Given the description of an element on the screen output the (x, y) to click on. 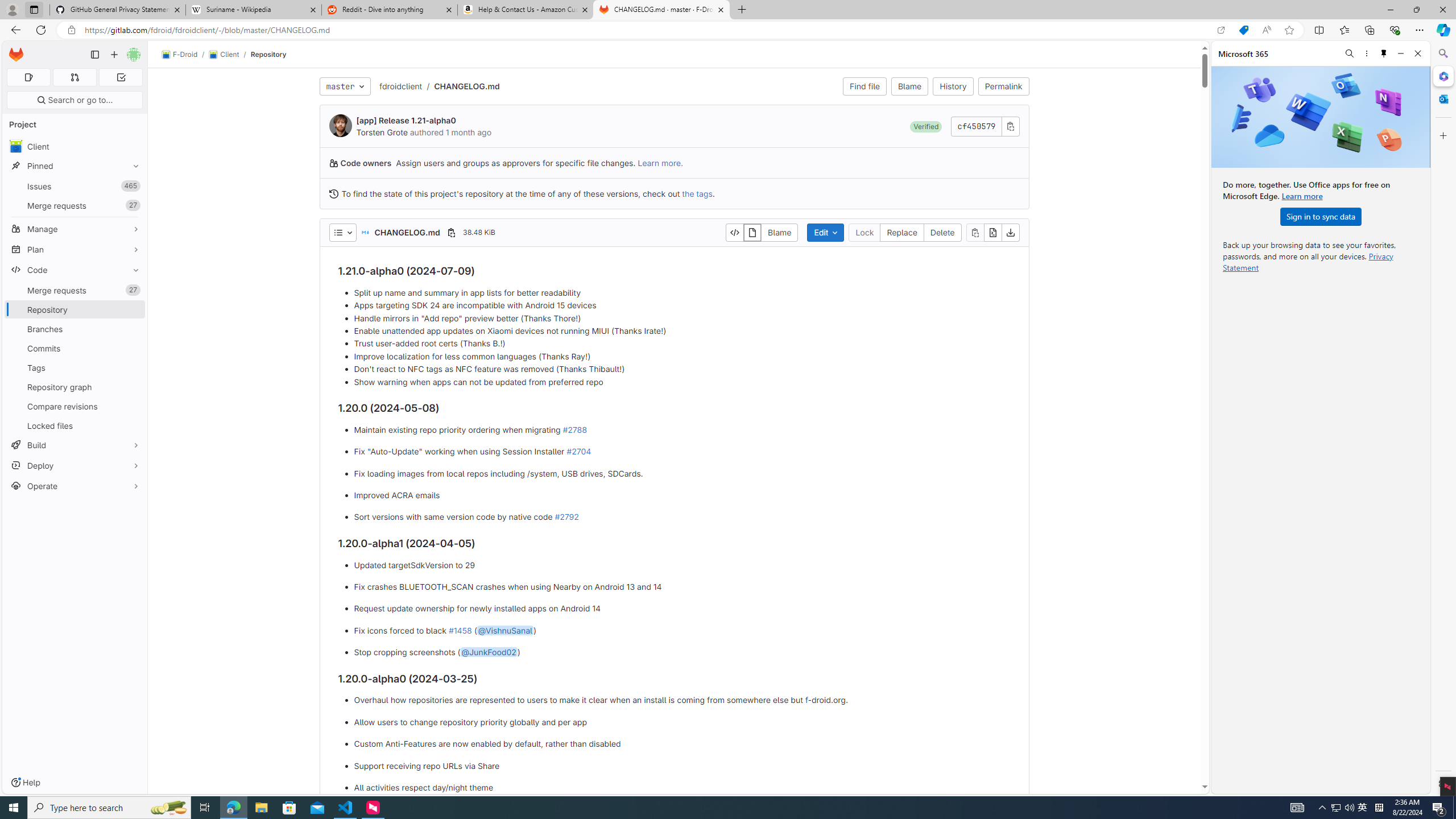
CHANGELOG.md (466, 85)
Replace (901, 232)
Primary navigation sidebar (94, 54)
Updated targetSdkVersion to 29 (681, 564)
avatar Client (74, 145)
Pin Repository (132, 309)
